Given the description of an element on the screen output the (x, y) to click on. 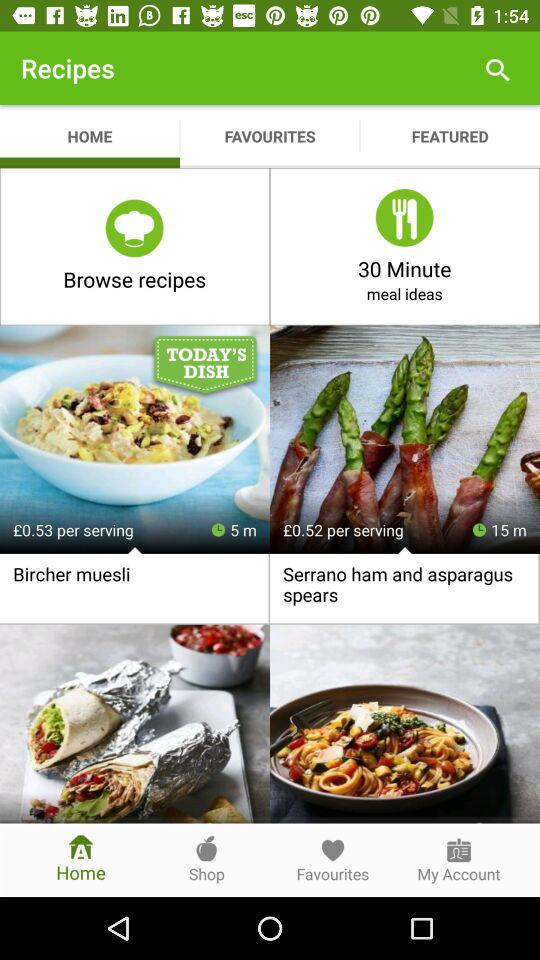
click icon to the right of the favourites app (497, 67)
